Given the description of an element on the screen output the (x, y) to click on. 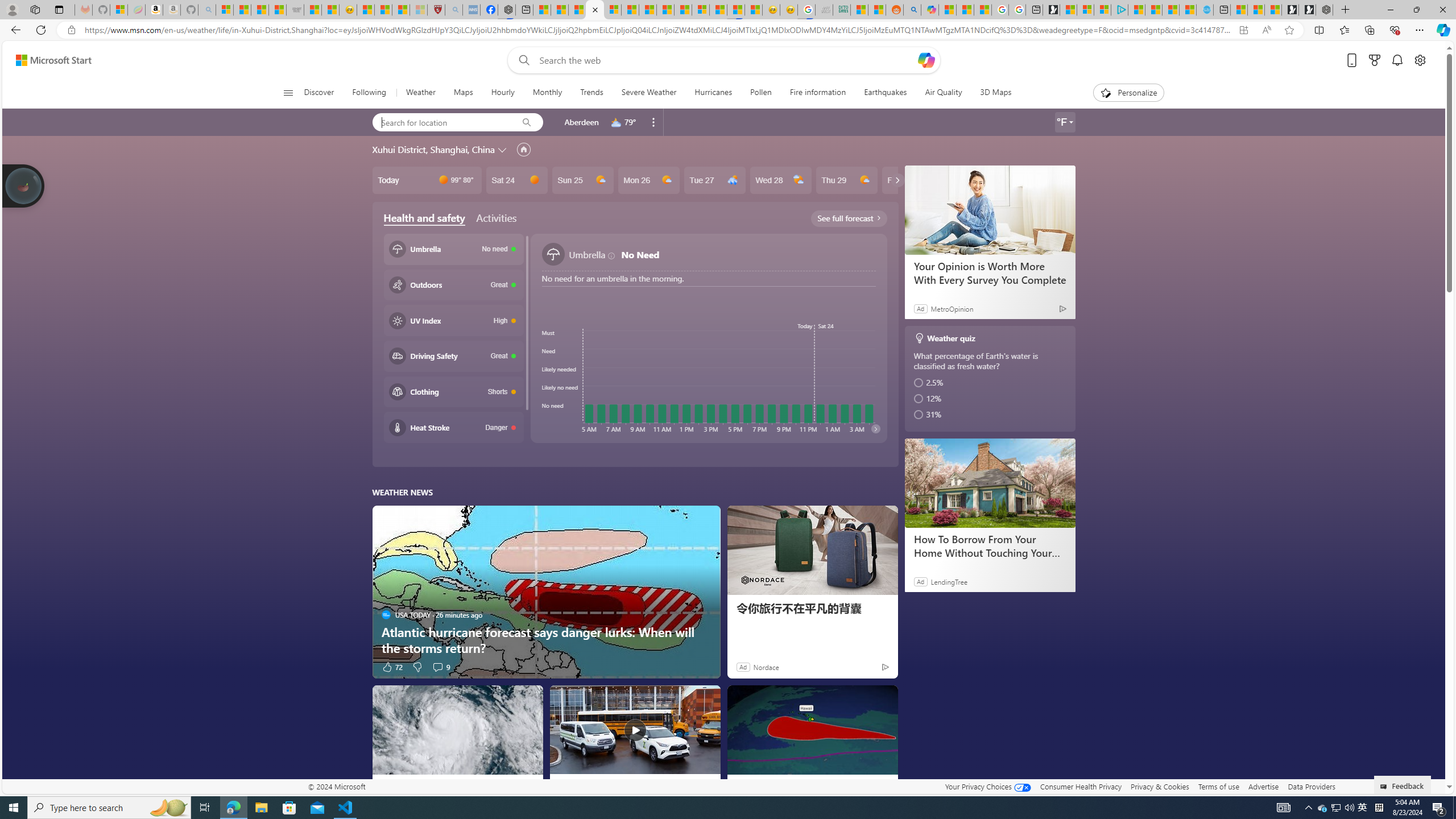
72 Like (392, 666)
Umbrella No need (453, 249)
Microsoft rewards (1374, 60)
Skip to footer (46, 59)
Nordace - Nordace Siena Is Not An Ordinary Backpack (1324, 9)
Search for location (440, 122)
Hurricanes (713, 92)
Your Privacy Choices (987, 786)
Weather (420, 92)
Refresh (40, 29)
Wed 28 (779, 180)
